Given the description of an element on the screen output the (x, y) to click on. 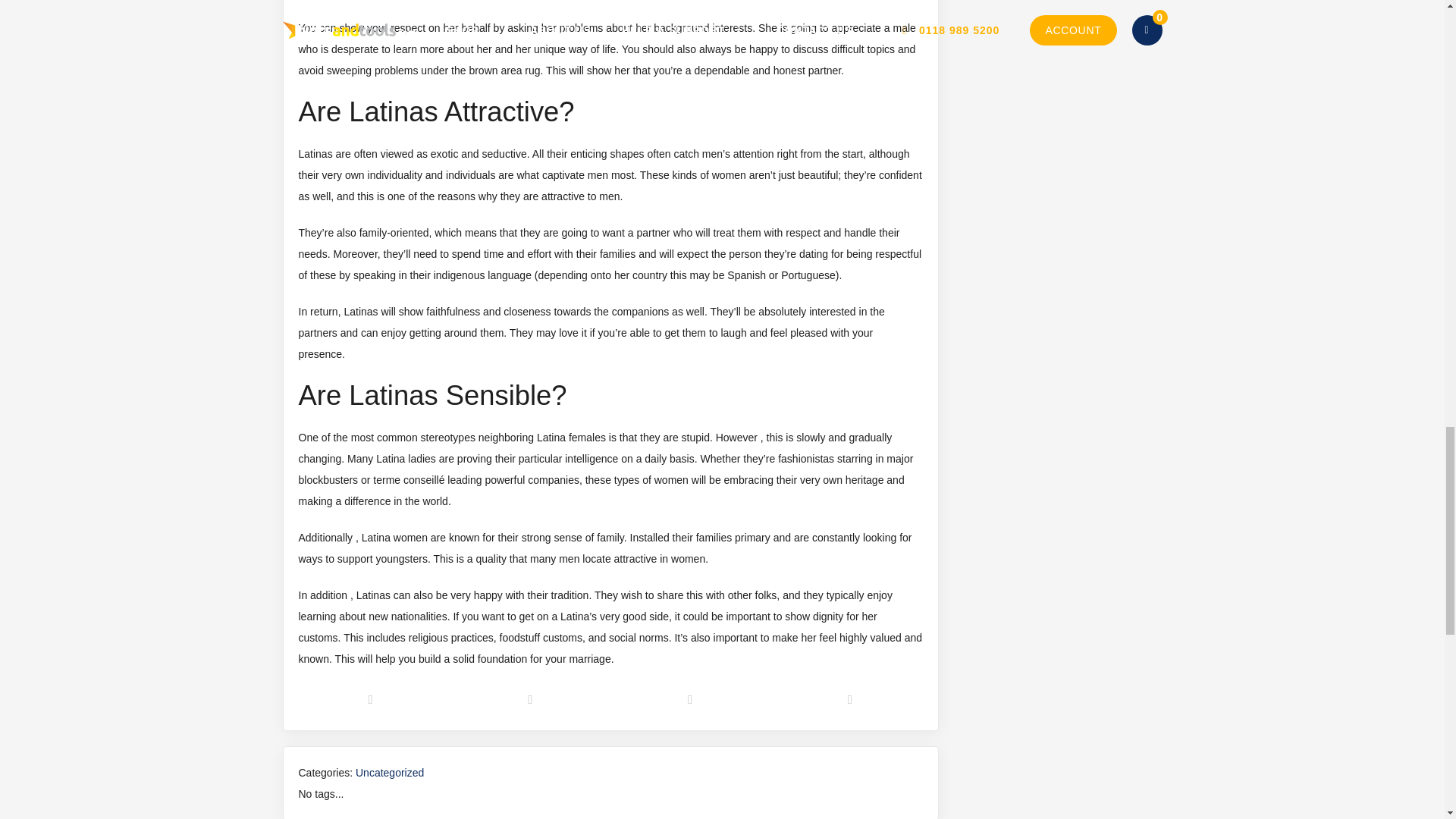
Uncategorized (389, 772)
